Given the description of an element on the screen output the (x, y) to click on. 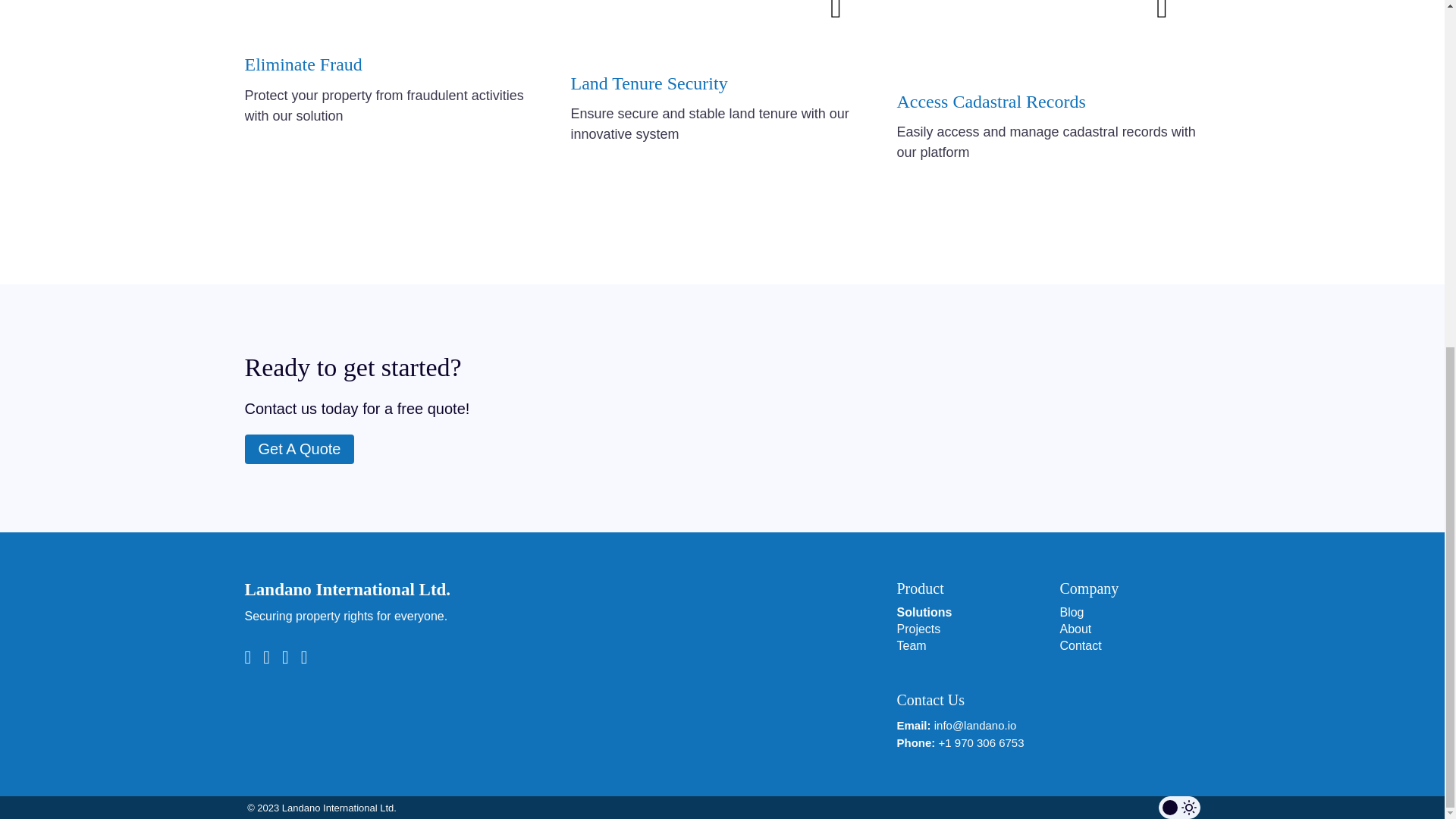
Get A Quote (298, 449)
Access Cadastral Records (990, 101)
Land Tenure Security (648, 83)
Solutions (966, 612)
Linkedin (304, 657)
Twitter (247, 657)
Facebook (285, 657)
Github (266, 657)
Eliminate Fraud (302, 64)
